Given the description of an element on the screen output the (x, y) to click on. 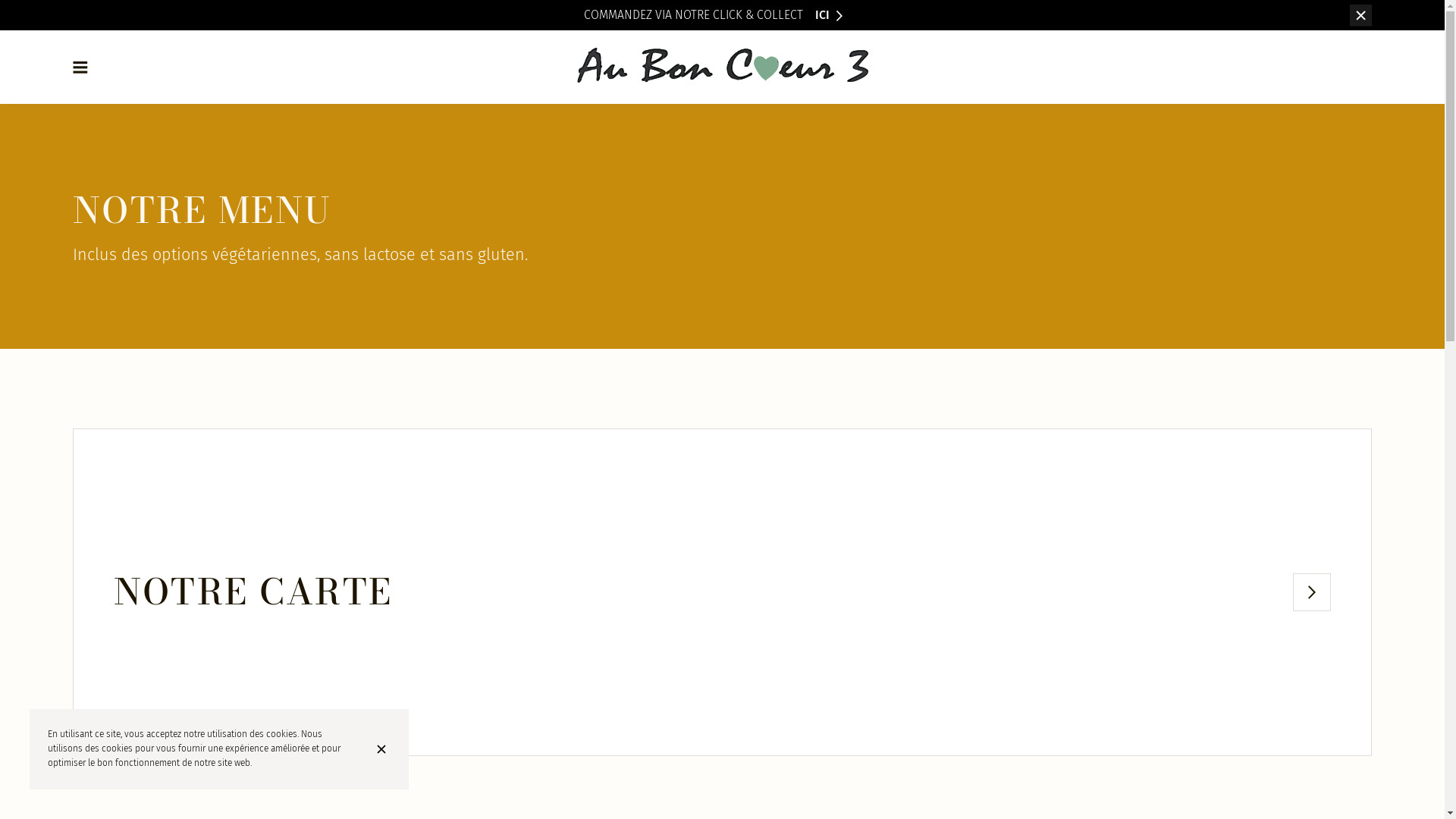
AU BON COEUR 3 Element type: text (721, 67)
Logo de Au Bon Coeur 3 Element type: hover (721, 67)
COMMANDEZ VIA NOTRE CLICK & COLLECT
ICI Element type: text (712, 15)
NOTRE CARTE Element type: text (721, 592)
